Given the description of an element on the screen output the (x, y) to click on. 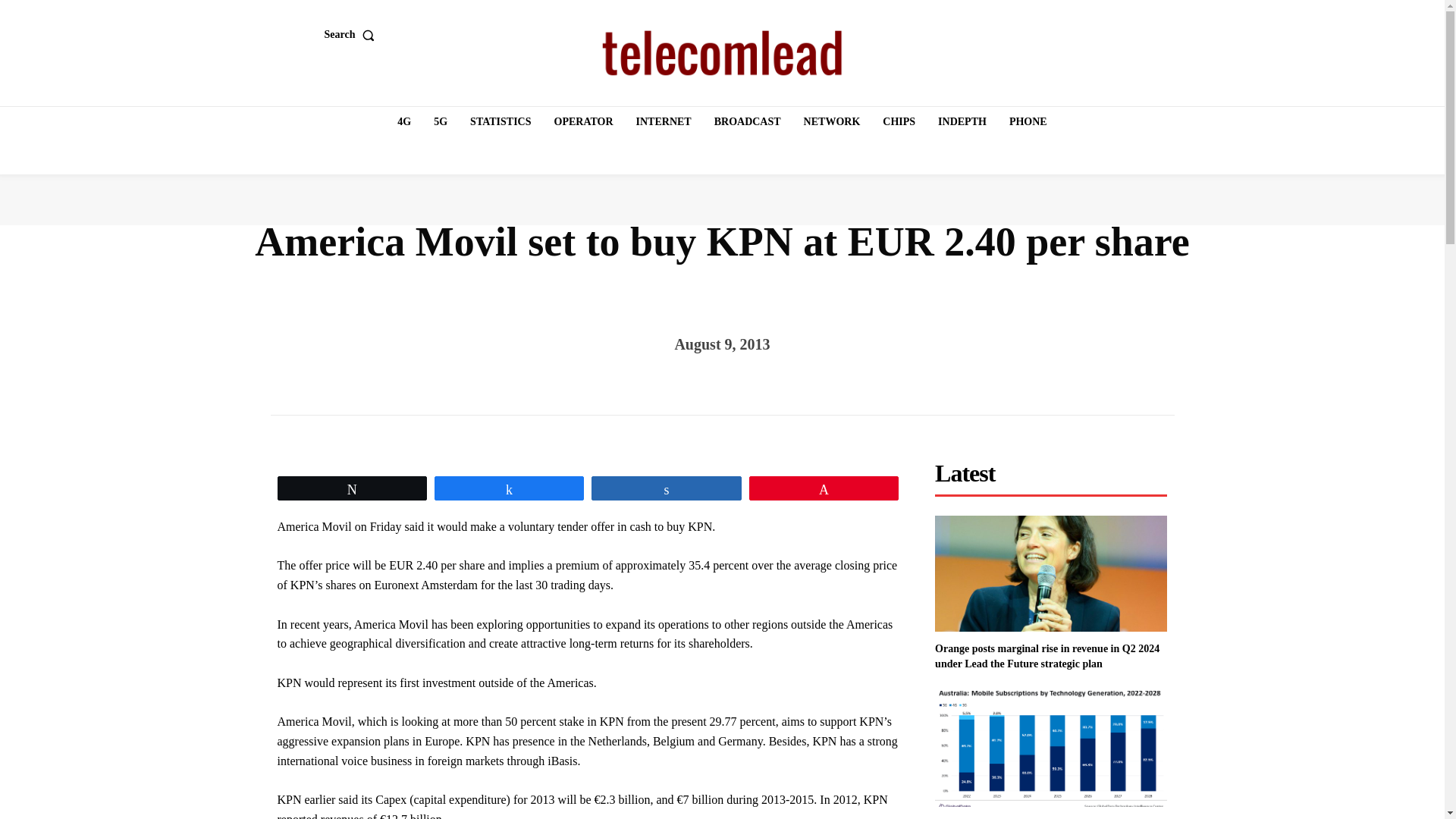
5G (440, 122)
tl (722, 53)
4G (404, 122)
Search (352, 34)
CHIPS (899, 122)
PHONE (1027, 122)
NETWORK (831, 122)
BROADCAST (747, 122)
Forecast on 5G subscribers in Australia (1050, 748)
INTERNET (663, 122)
OPERATOR (584, 122)
